Given the description of an element on the screen output the (x, y) to click on. 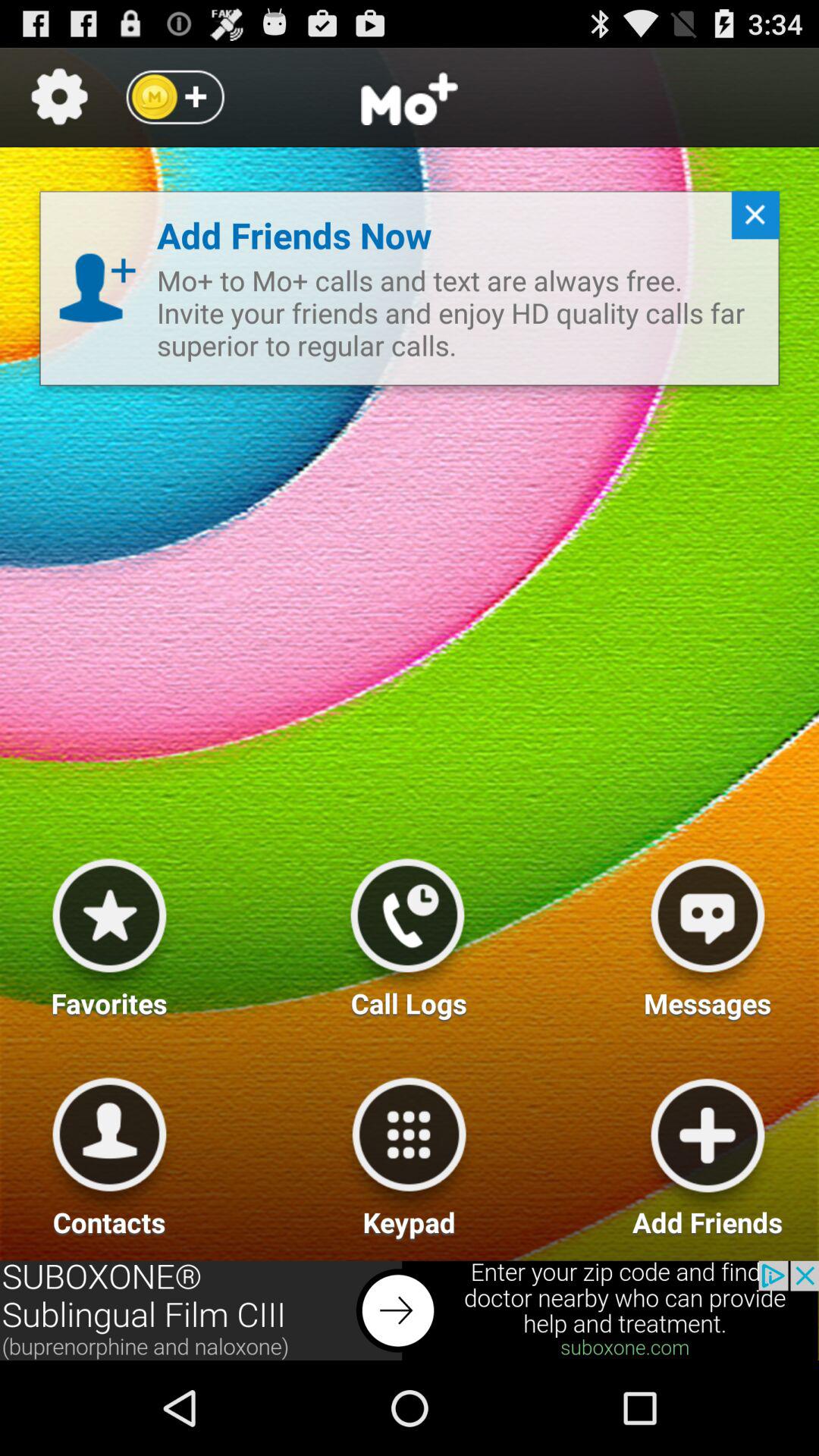
open contacts (109, 1151)
